Given the description of an element on the screen output the (x, y) to click on. 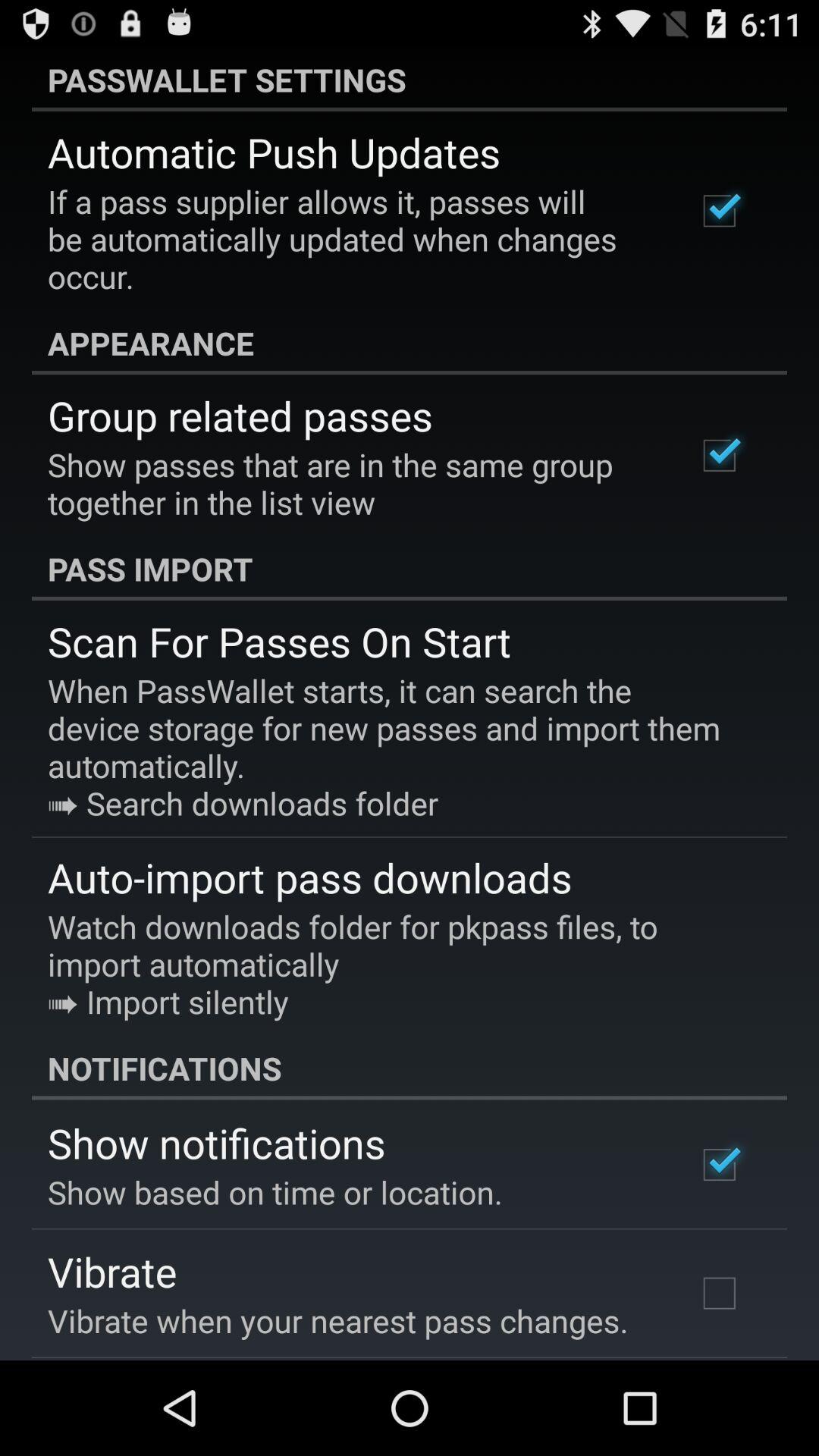
click app above the if a pass icon (273, 151)
